Given the description of an element on the screen output the (x, y) to click on. 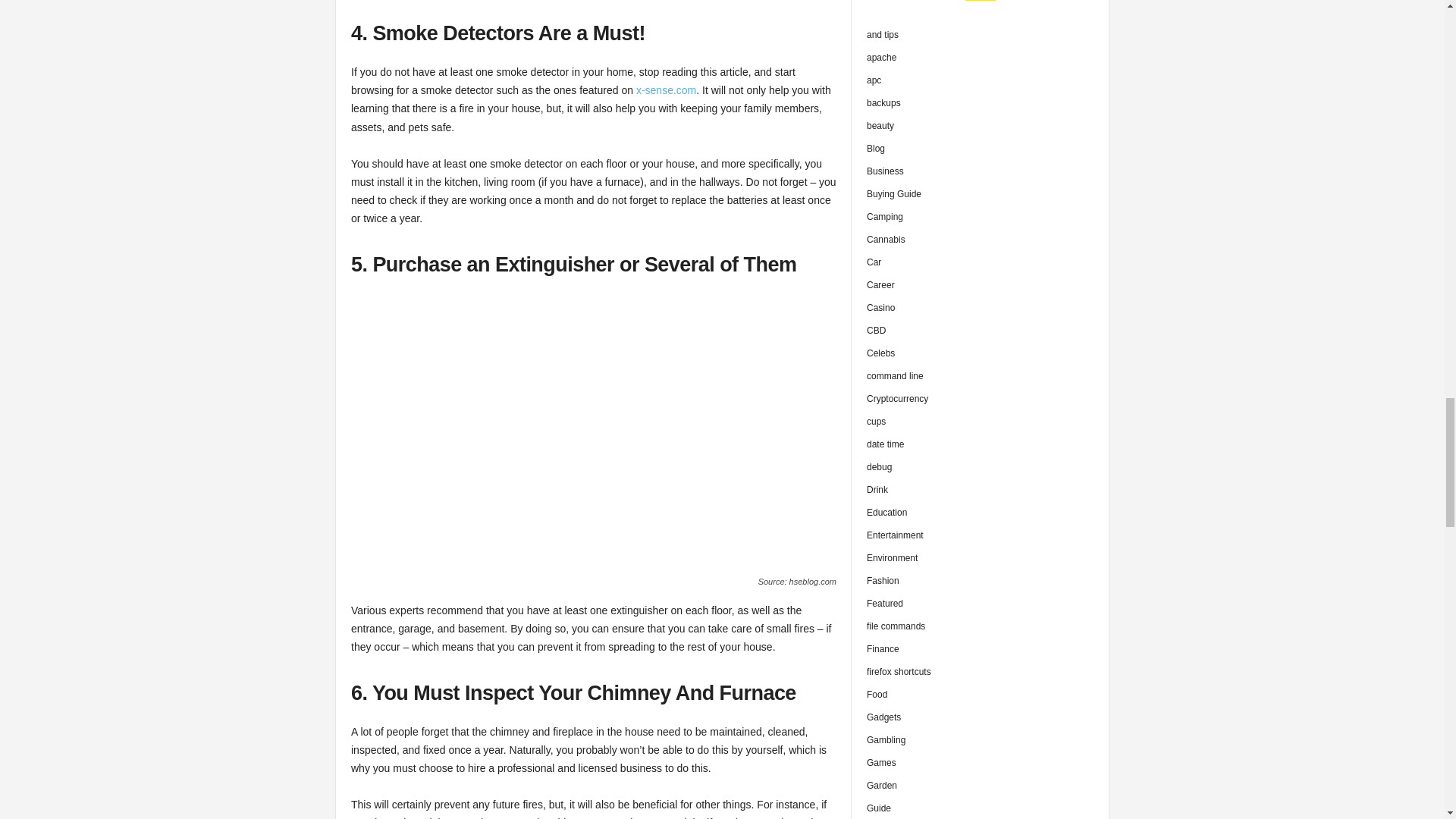
x-sense.com (665, 90)
